Given the description of an element on the screen output the (x, y) to click on. 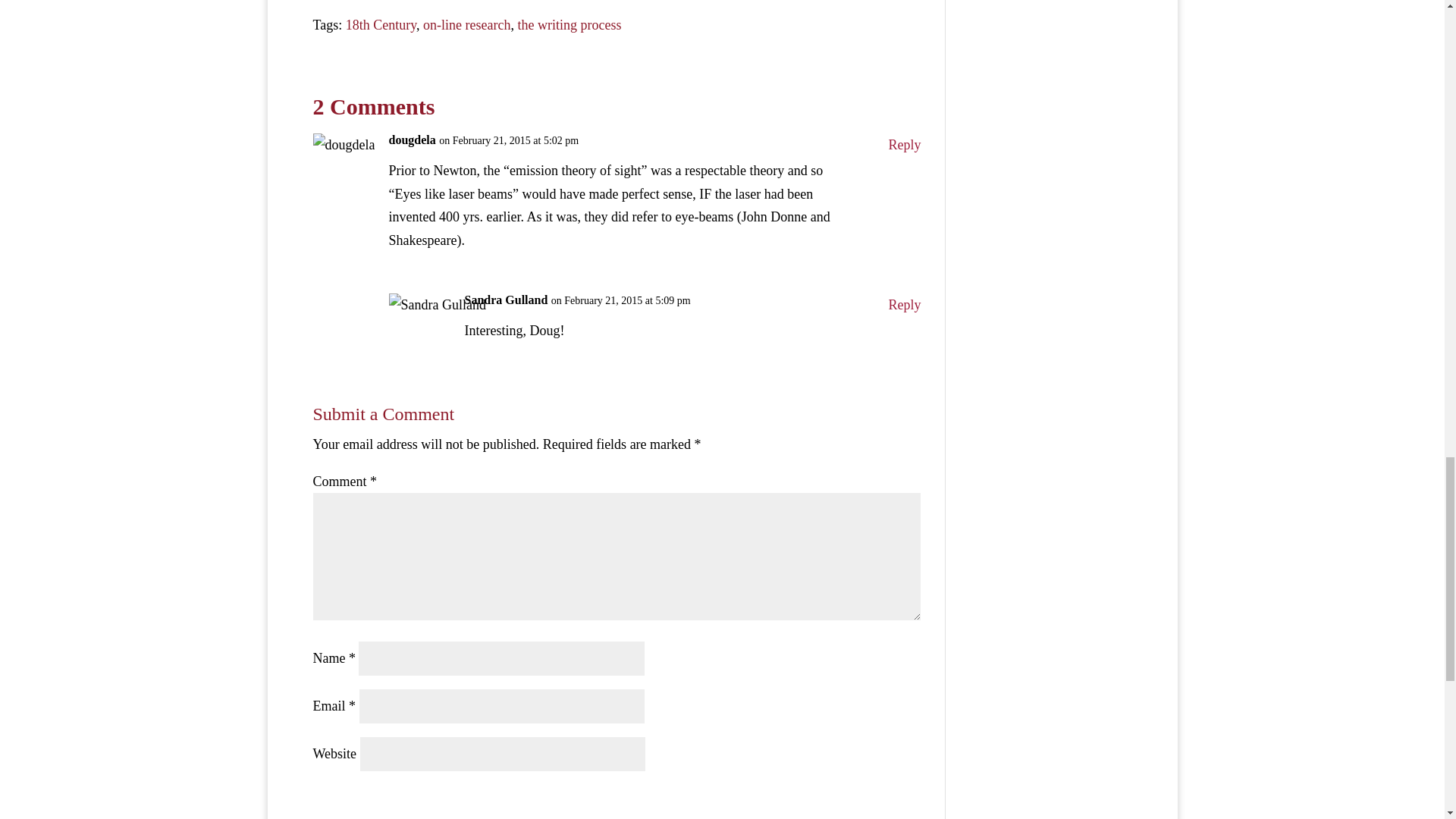
on-line research (467, 24)
Sandra Gulland (505, 300)
Reply (904, 145)
Reply (904, 304)
the writing process (568, 24)
18th Century (381, 24)
